Given the description of an element on the screen output the (x, y) to click on. 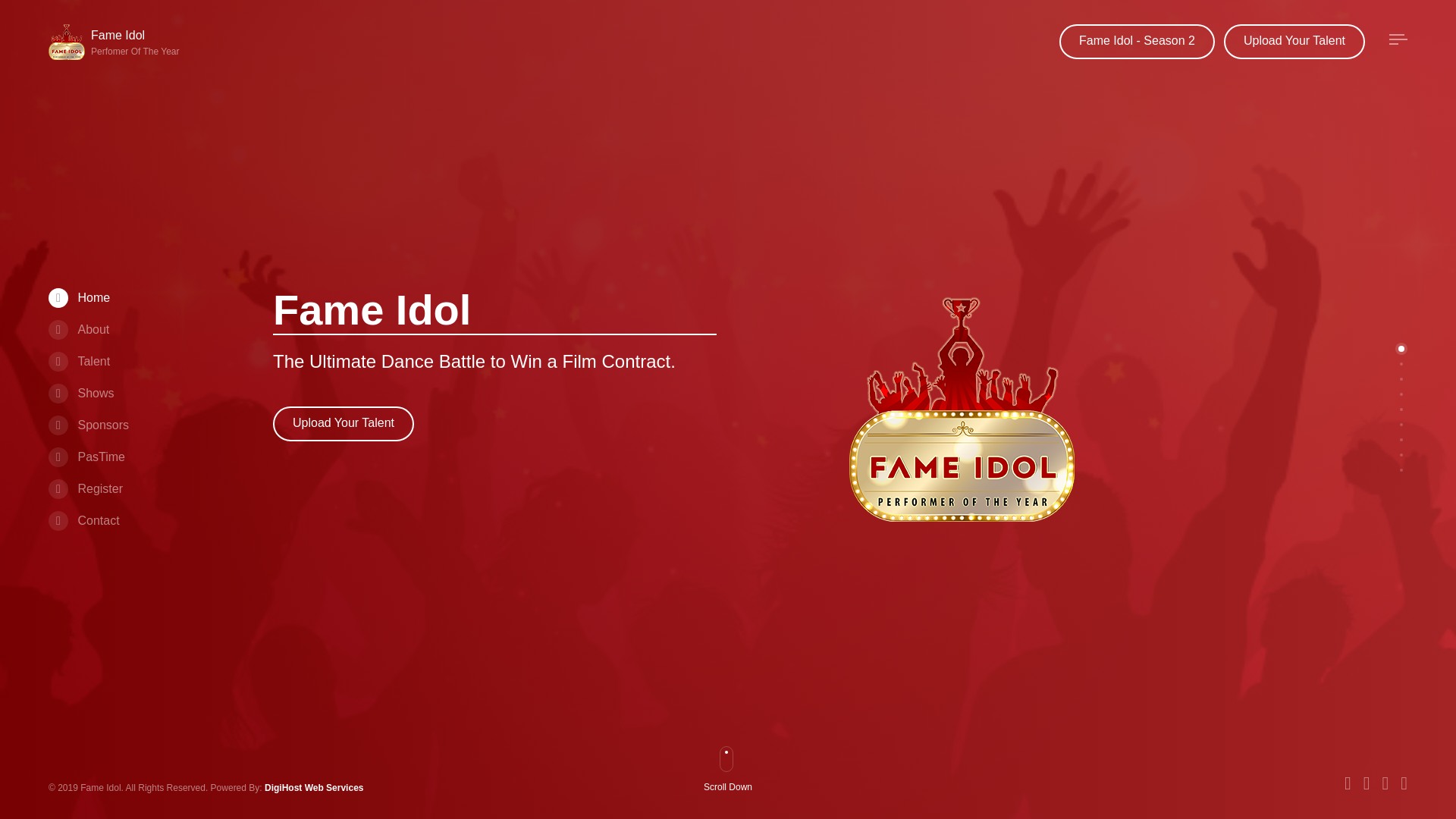
DigiHost Web Services (314, 787)
Scroll Down (733, 788)
PasTime (117, 42)
Upload Your Talent (86, 456)
Upload Your Talent (343, 423)
Contact (1294, 41)
Fame Idol - Season 2 (83, 520)
Shows (1136, 41)
Register (80, 392)
